Given the description of an element on the screen output the (x, y) to click on. 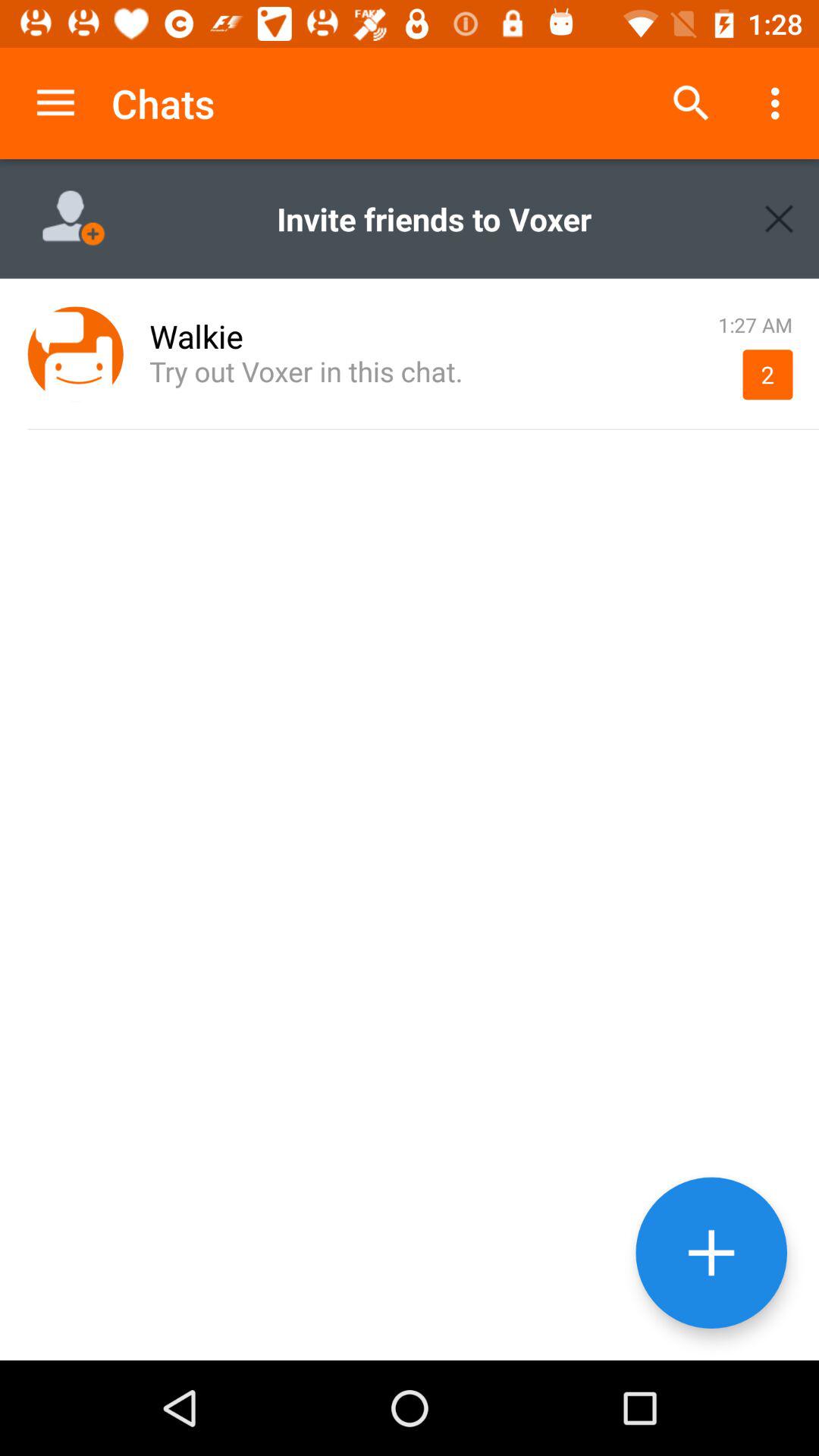
create new chat (711, 1252)
